Given the description of an element on the screen output the (x, y) to click on. 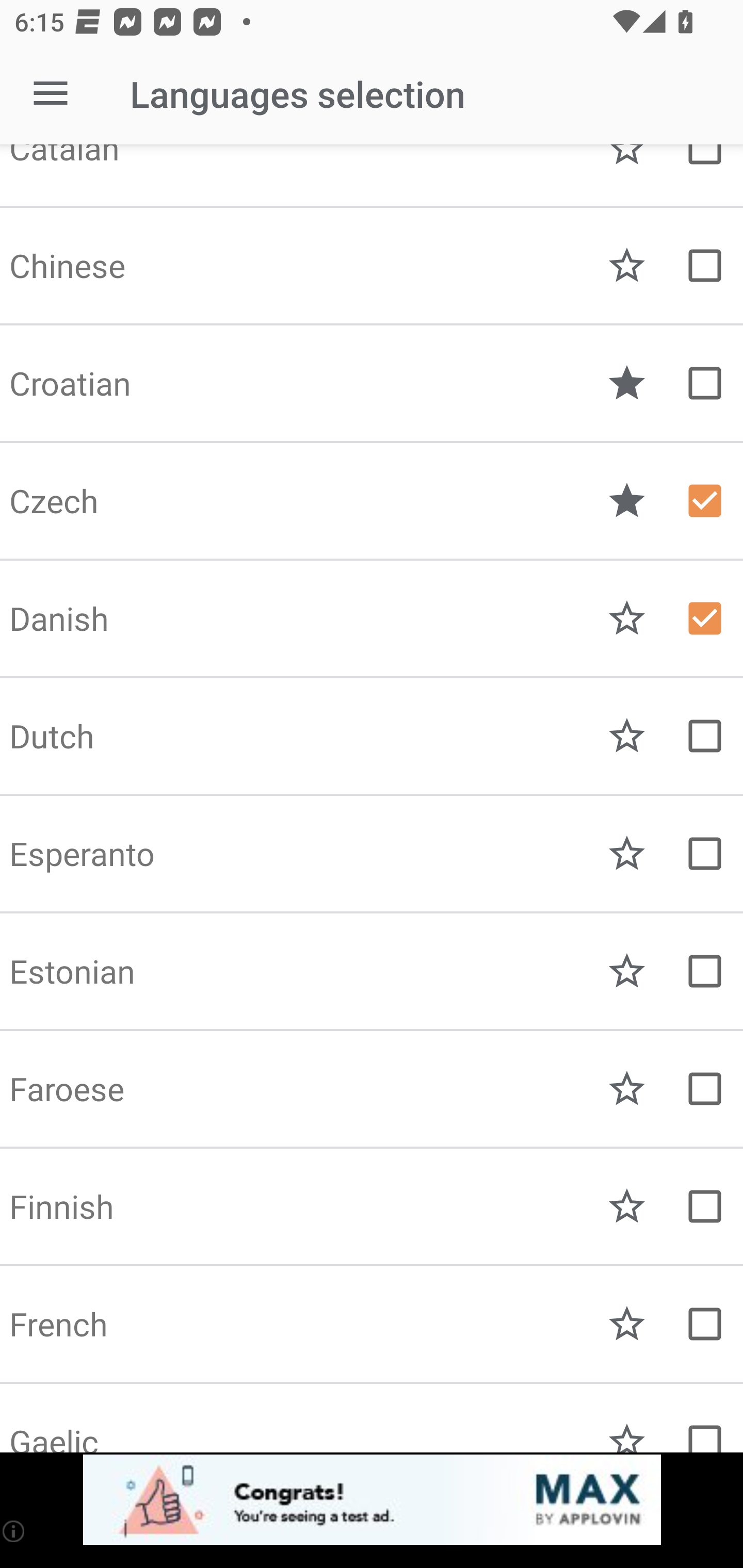
Open navigation sidebar (50, 93)
Chinese Favorite (371, 265)
Favorite (626, 265)
Croatian UnFavorite (371, 383)
UnFavorite (626, 383)
Czech UnFavorite (371, 500)
UnFavorite (626, 500)
Danish Favorite (371, 618)
Favorite (626, 618)
Dutch Favorite (371, 735)
Favorite (626, 736)
Esperanto Favorite (371, 853)
Favorite (626, 853)
Estonian Favorite (371, 971)
Favorite (626, 971)
Faroese Favorite (371, 1088)
Favorite (626, 1088)
Finnish Favorite (371, 1206)
Favorite (626, 1206)
French Favorite (371, 1323)
Favorite (626, 1324)
Gaelic Favorite (371, 1417)
Favorite (626, 1435)
app-monetization (371, 1500)
(i) (14, 1531)
